Given the description of an element on the screen output the (x, y) to click on. 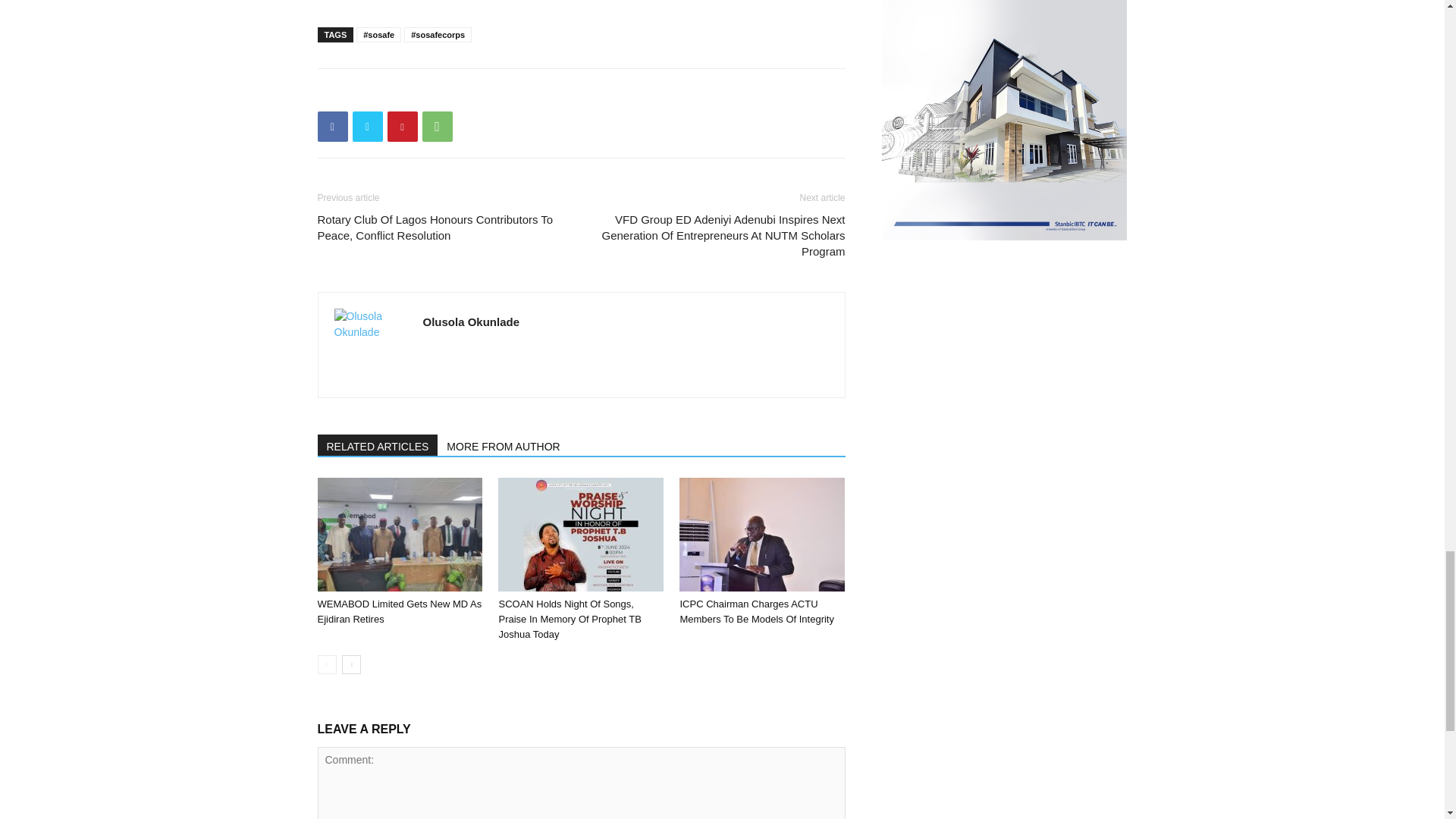
Twitter (366, 126)
Facebook (332, 126)
bottomFacebookLike (430, 92)
